Given the description of an element on the screen output the (x, y) to click on. 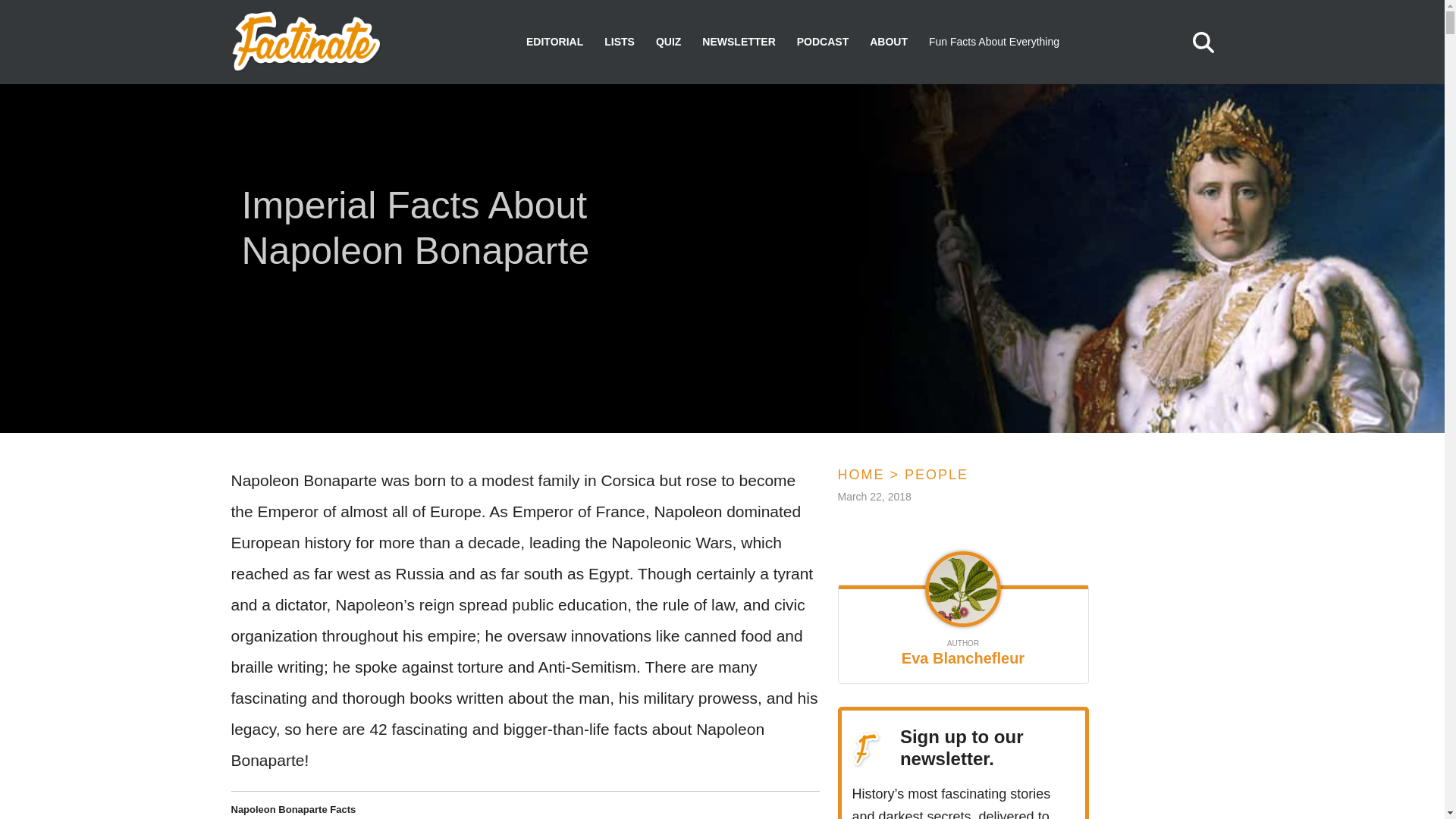
PODCAST (822, 41)
EDITORIAL (554, 41)
LISTS (619, 41)
QUIZ (668, 41)
Imperial Facts About Napoleon Bonaparte (451, 231)
NEWSLETTER (737, 41)
ABOUT (888, 41)
